Given the description of an element on the screen output the (x, y) to click on. 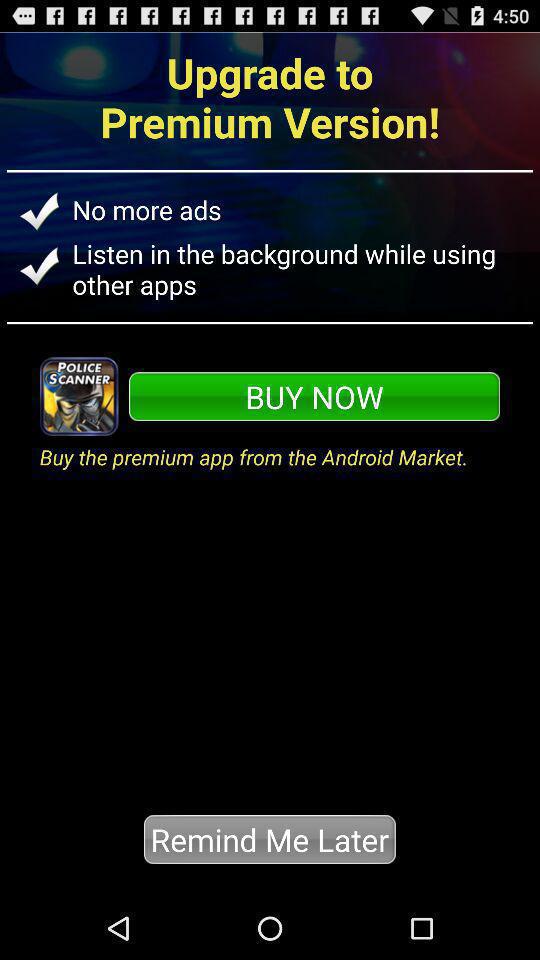
flip until the remind me later button (269, 839)
